Given the description of an element on the screen output the (x, y) to click on. 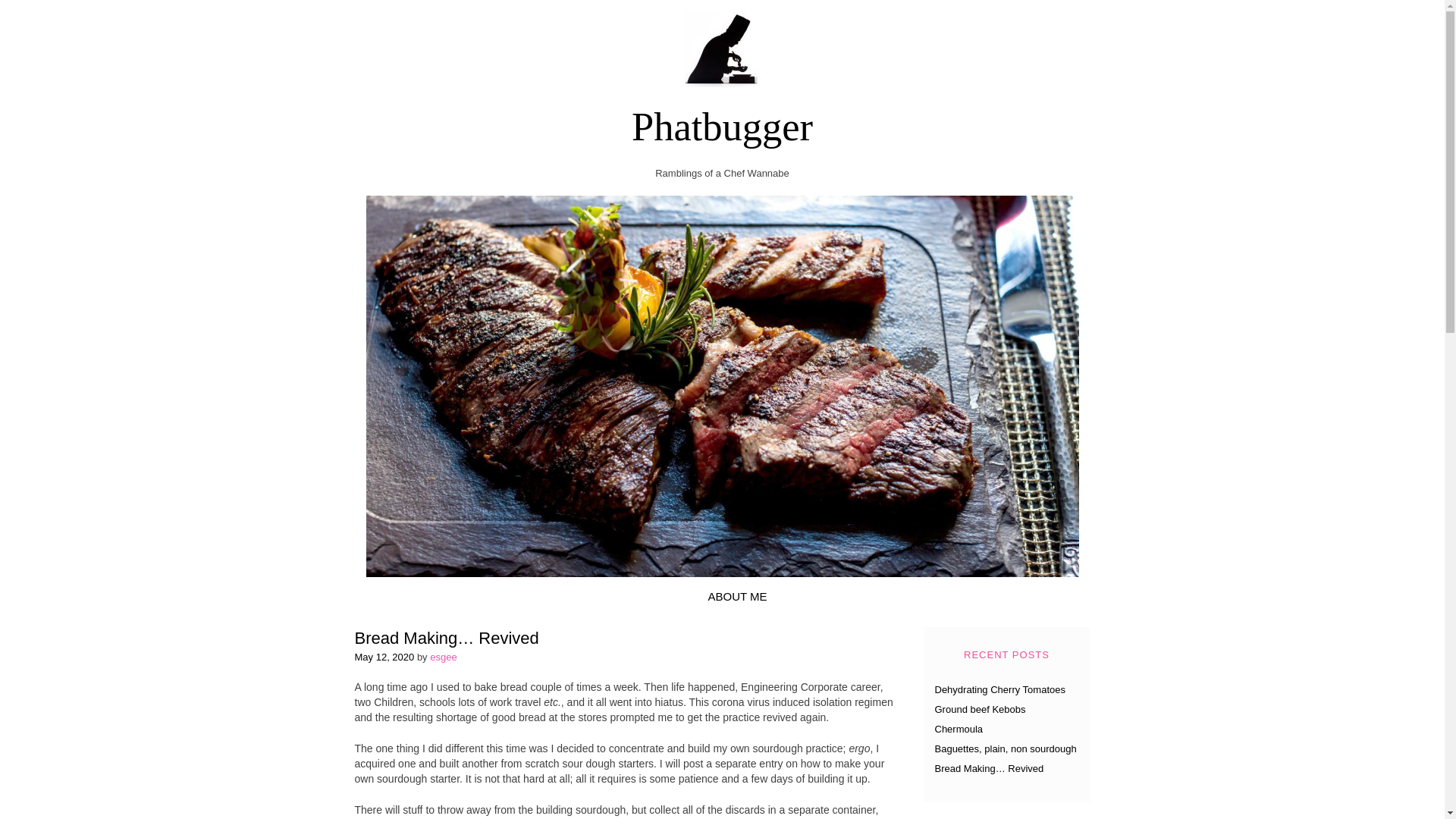
Phatbugger (721, 126)
esgee (443, 656)
ABOUT ME (736, 596)
Chermoula (958, 728)
Baguettes, plain, non sourdough (1004, 748)
Ground beef Kebobs (979, 708)
Dehydrating Cherry Tomatoes (999, 689)
